Given the description of an element on the screen output the (x, y) to click on. 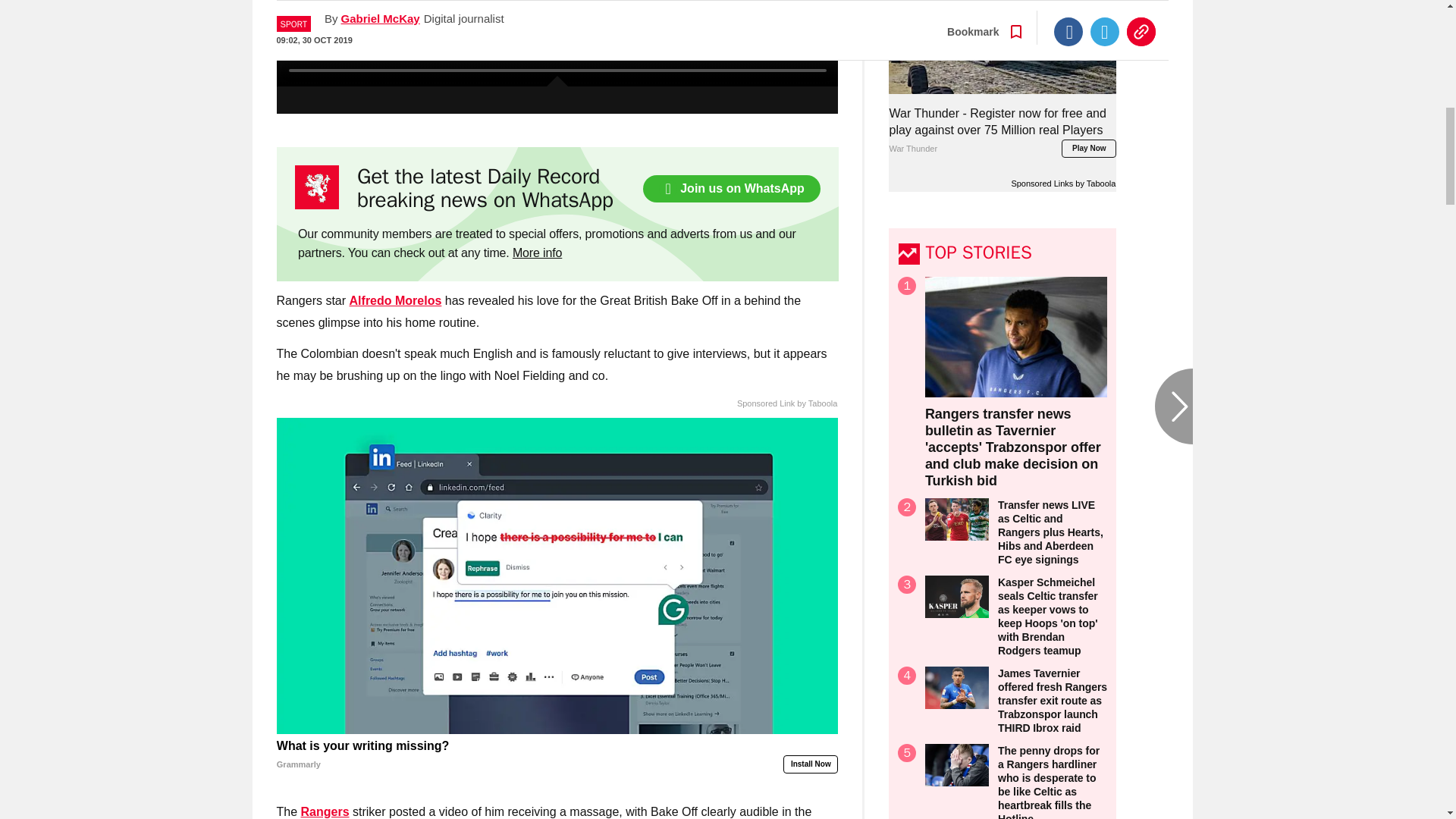
What is your writing missing? (557, 755)
